Given the description of an element on the screen output the (x, y) to click on. 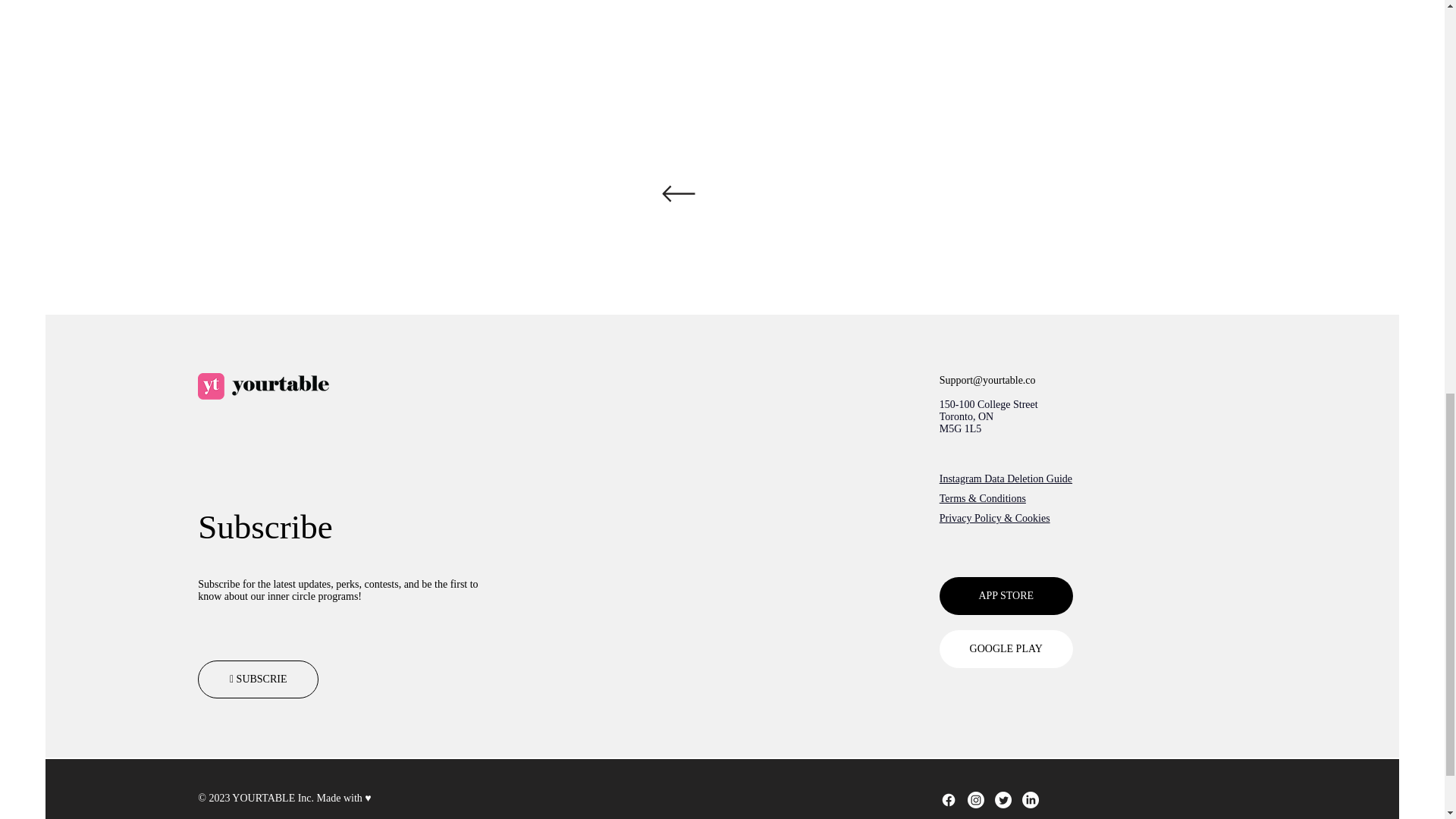
Instagram Data Deletion Guide (1005, 478)
GOOGLE PLAY (1006, 648)
APP STORE (1006, 596)
